Given the description of an element on the screen output the (x, y) to click on. 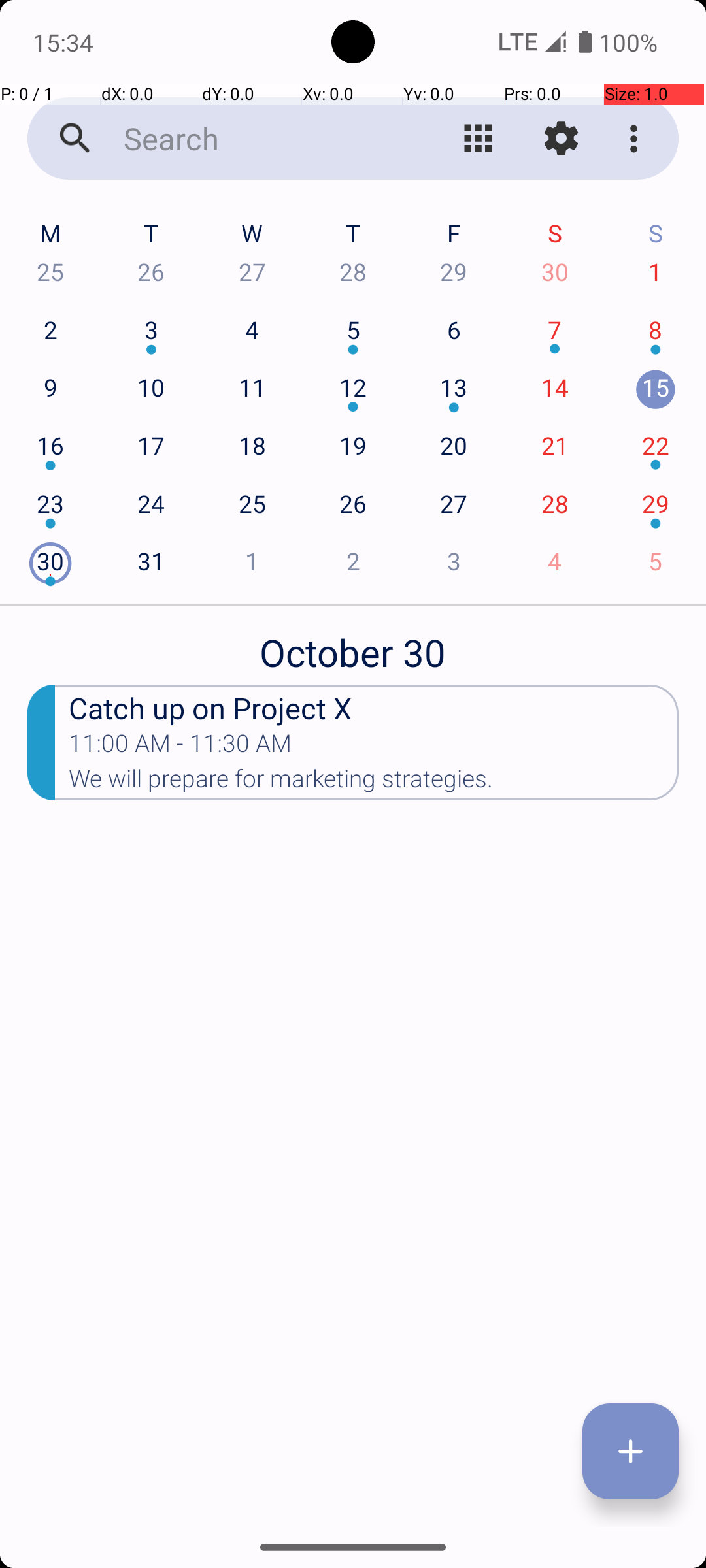
October 30 Element type: android.widget.TextView (352, 644)
11:00 AM - 11:30 AM Element type: android.widget.TextView (179, 747)
We will prepare for marketing strategies. Element type: android.widget.TextView (373, 782)
